Given the description of an element on the screen output the (x, y) to click on. 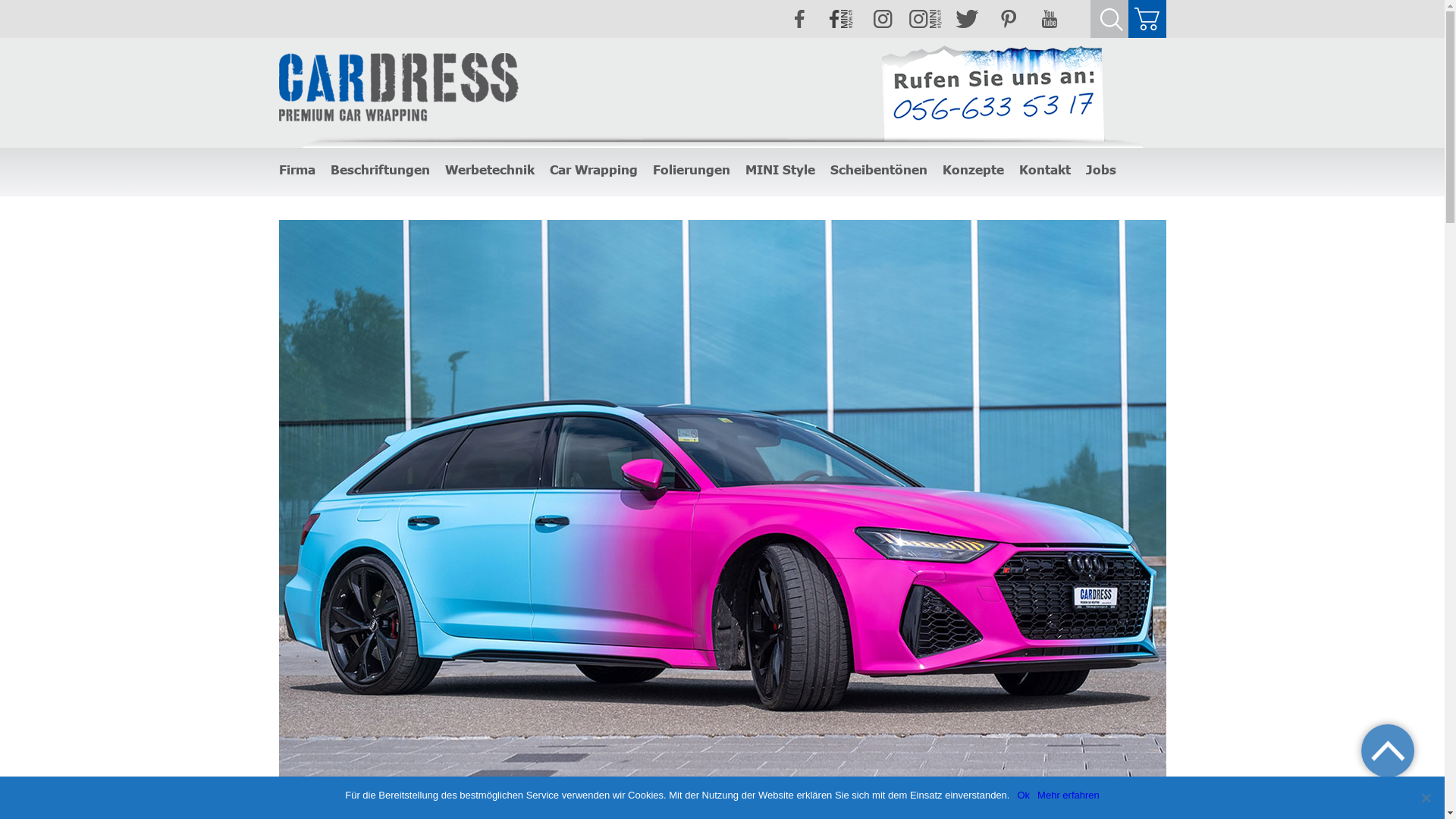
Kontakt Element type: text (1044, 169)
Unser Team Element type: text (306, 191)
Anfahrt Element type: text (1036, 191)
Teilfolierungen Element type: text (582, 191)
News Element type: text (291, 191)
Teilfolierungen an Fahrzeugen Element type: text (721, 191)
MINI Style Element type: text (779, 169)
Ok Element type: text (1022, 795)
Selbstheilende Lackschutzfolien Element type: text (621, 191)
Jobs Element type: text (1100, 169)
No Element type: hover (1425, 797)
Werbetechnik Element type: text (488, 169)
Allgemeine Folierungsarbeiten Element type: text (721, 191)
Car Wrapping Element type: text (593, 169)
Mehr erfahren Element type: text (1068, 795)
Fahrzeugfolierungen Element type: text (596, 191)
Kontakt Element type: text (1037, 191)
Folierungen Element type: text (690, 169)
Disclaimer Element type: text (302, 191)
Beschriftungen Element type: text (379, 169)
Konzepte Element type: text (972, 169)
Firma Element type: text (291, 191)
Steinschlagschutzfolierungen Element type: text (719, 191)
Bootsfolierungen Element type: text (691, 191)
Liftfolierungen Element type: text (685, 191)
E-mail senden Element type: text (1051, 191)
Impressum Element type: text (305, 191)
Firma Element type: text (297, 169)
